Given the description of an element on the screen output the (x, y) to click on. 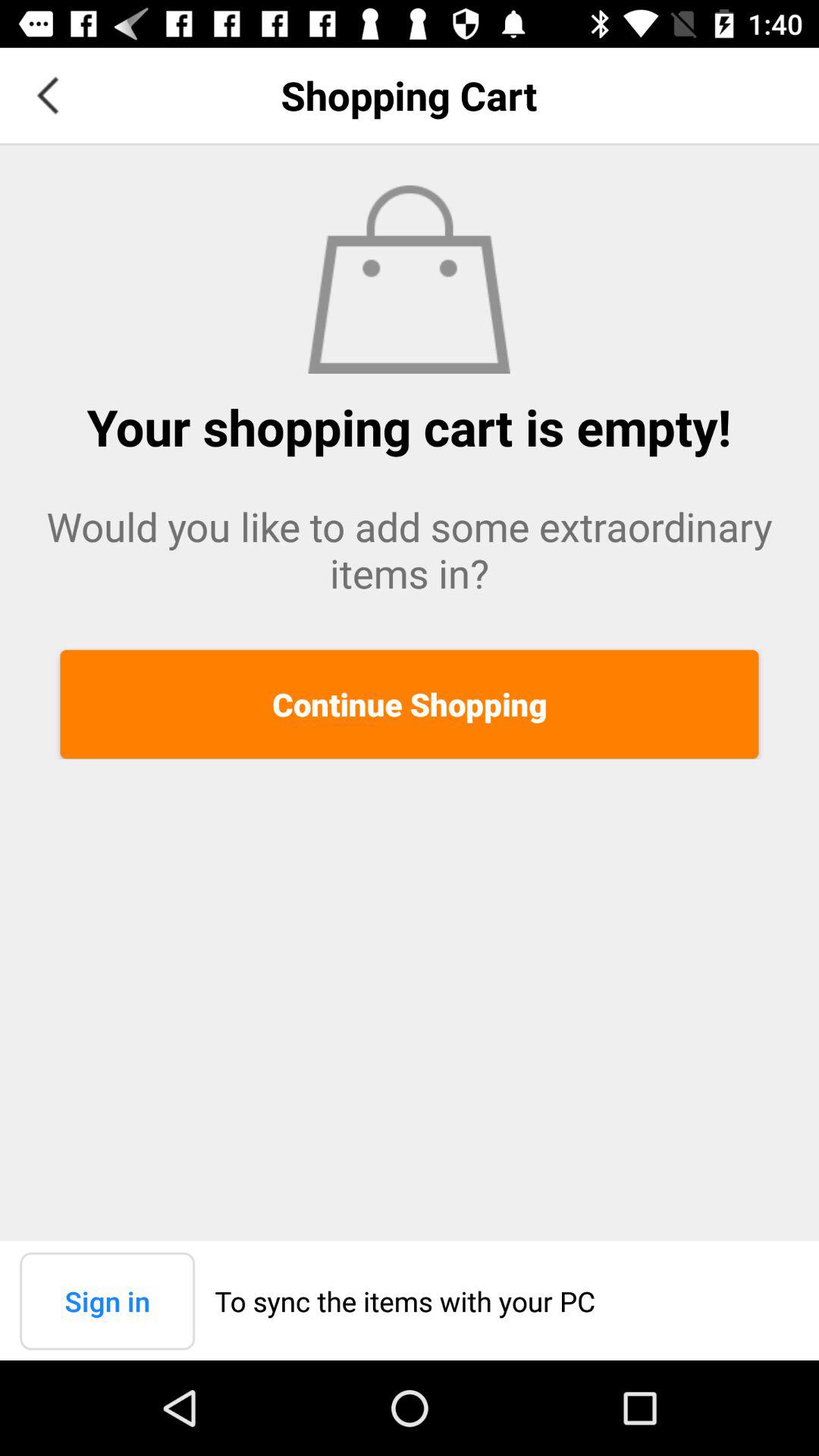
flip to sign in button (107, 1301)
